Given the description of an element on the screen output the (x, y) to click on. 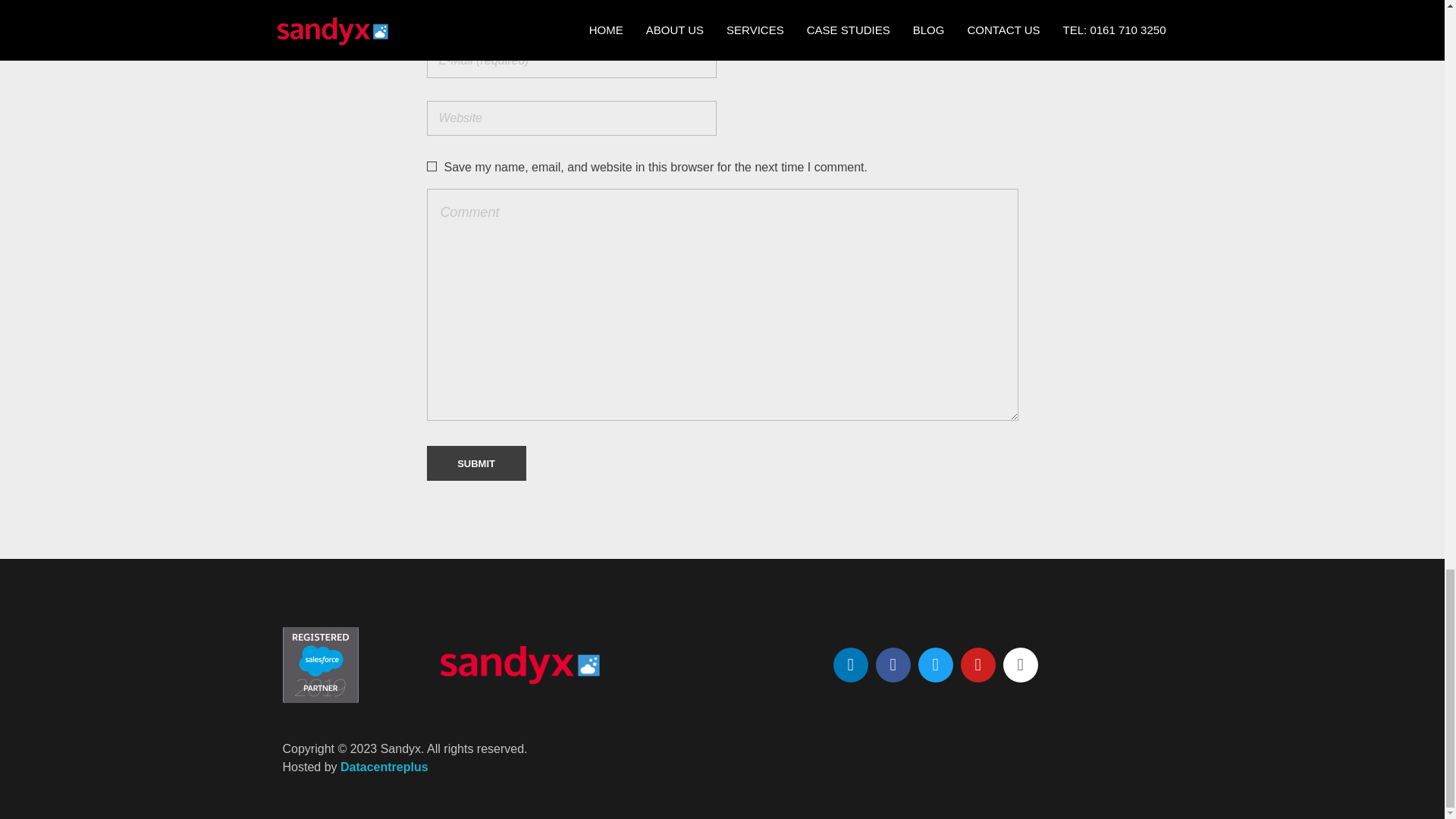
Submit (475, 462)
yes (430, 166)
Submit (475, 462)
